Given the description of an element on the screen output the (x, y) to click on. 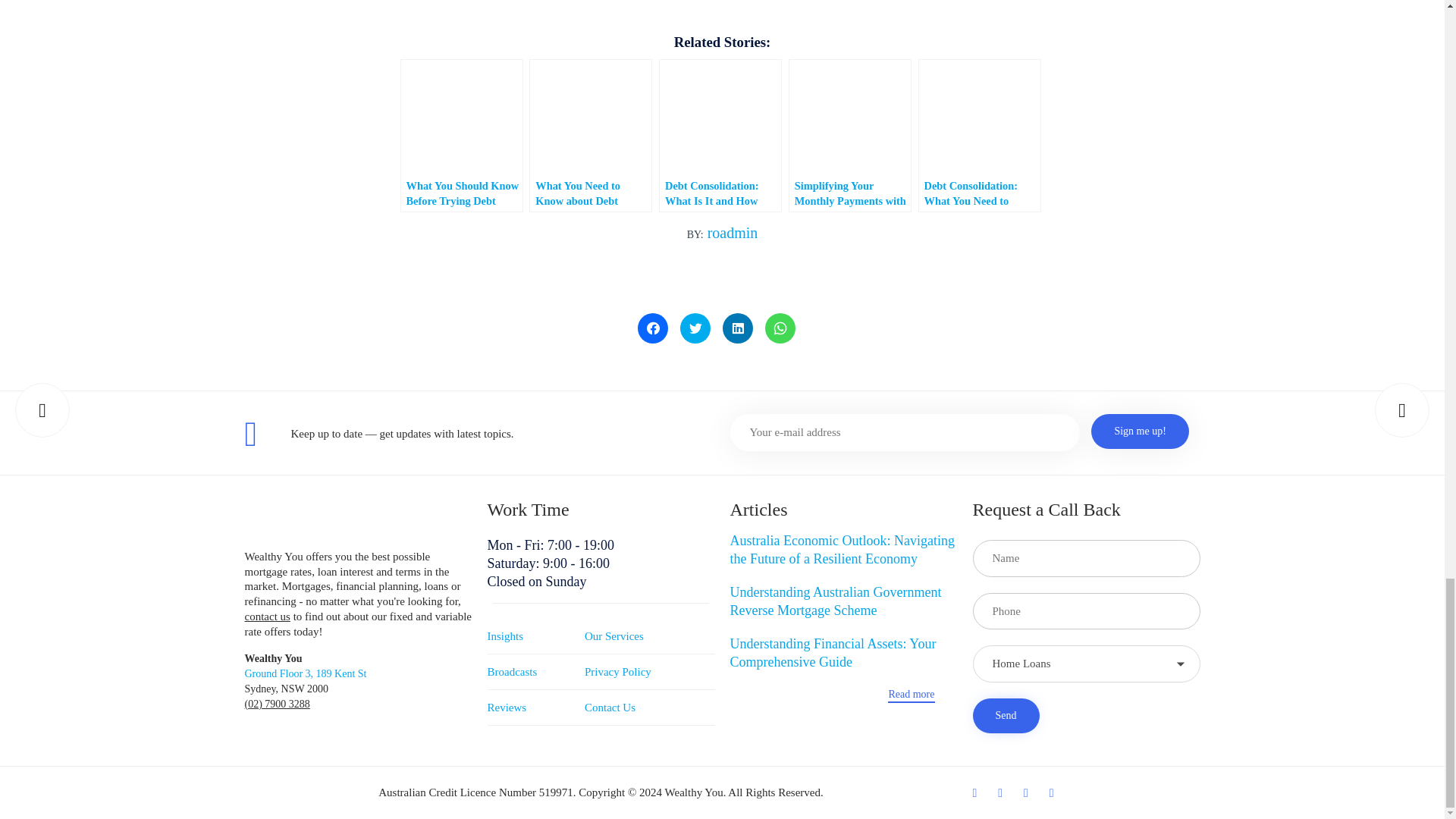
wealthyyou-logo (329, 519)
Click to share on WhatsApp (779, 327)
Posts by roadmin (732, 232)
Click to share on Facebook (651, 327)
Click to share on Twitter (694, 327)
Send (1005, 715)
Sign me up! (1139, 431)
Click to share on LinkedIn (737, 327)
